Given the description of an element on the screen output the (x, y) to click on. 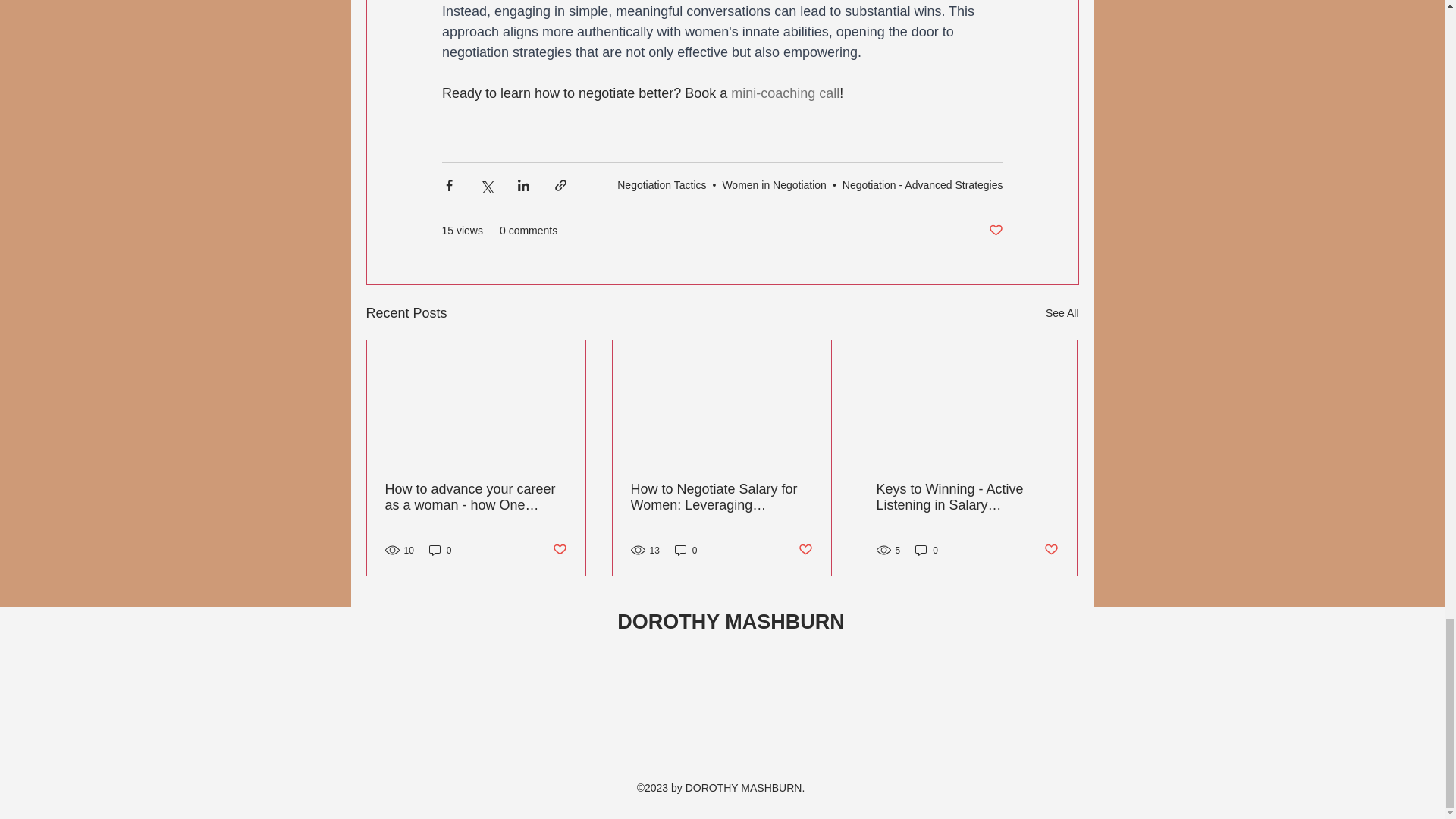
Negotiation Tactics (661, 184)
Women in Negotiation (773, 184)
mini-coaching call (785, 92)
Negotiation - Advanced Strategies (923, 184)
